Given the description of an element on the screen output the (x, y) to click on. 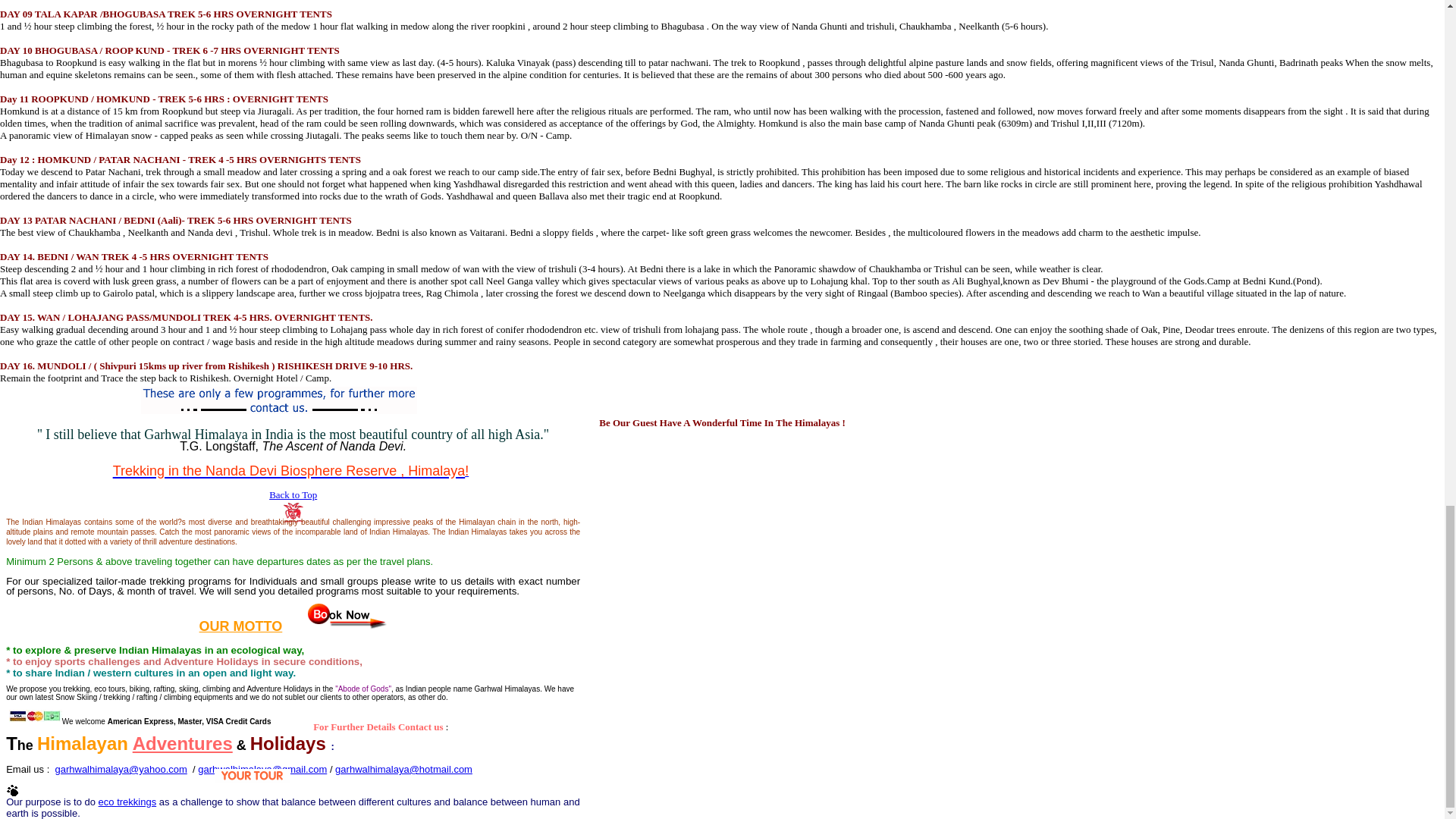
Trekking in the Nanda Devi Biosphere Reserve , Himalaya (289, 469)
Back to Top (293, 494)
eco trekkings (128, 801)
! (466, 470)
